Given the description of an element on the screen output the (x, y) to click on. 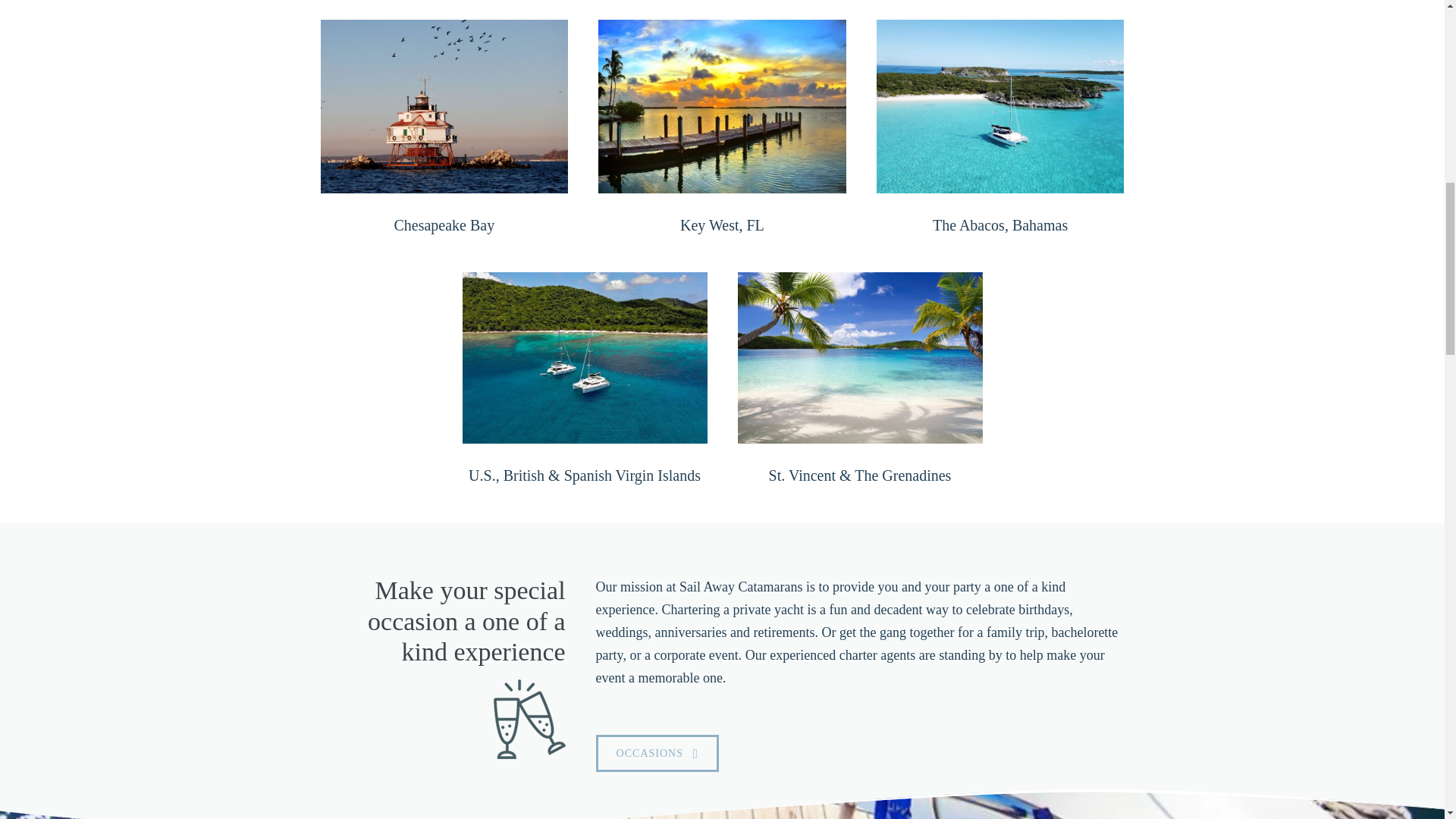
FareHarbor (1342, 64)
Click Here (657, 753)
USVI (585, 357)
St. Vincent (858, 357)
sunset-in-the-keys (721, 106)
bahamas page 1 (1000, 105)
thomas-point (443, 105)
